Given the description of an element on the screen output the (x, y) to click on. 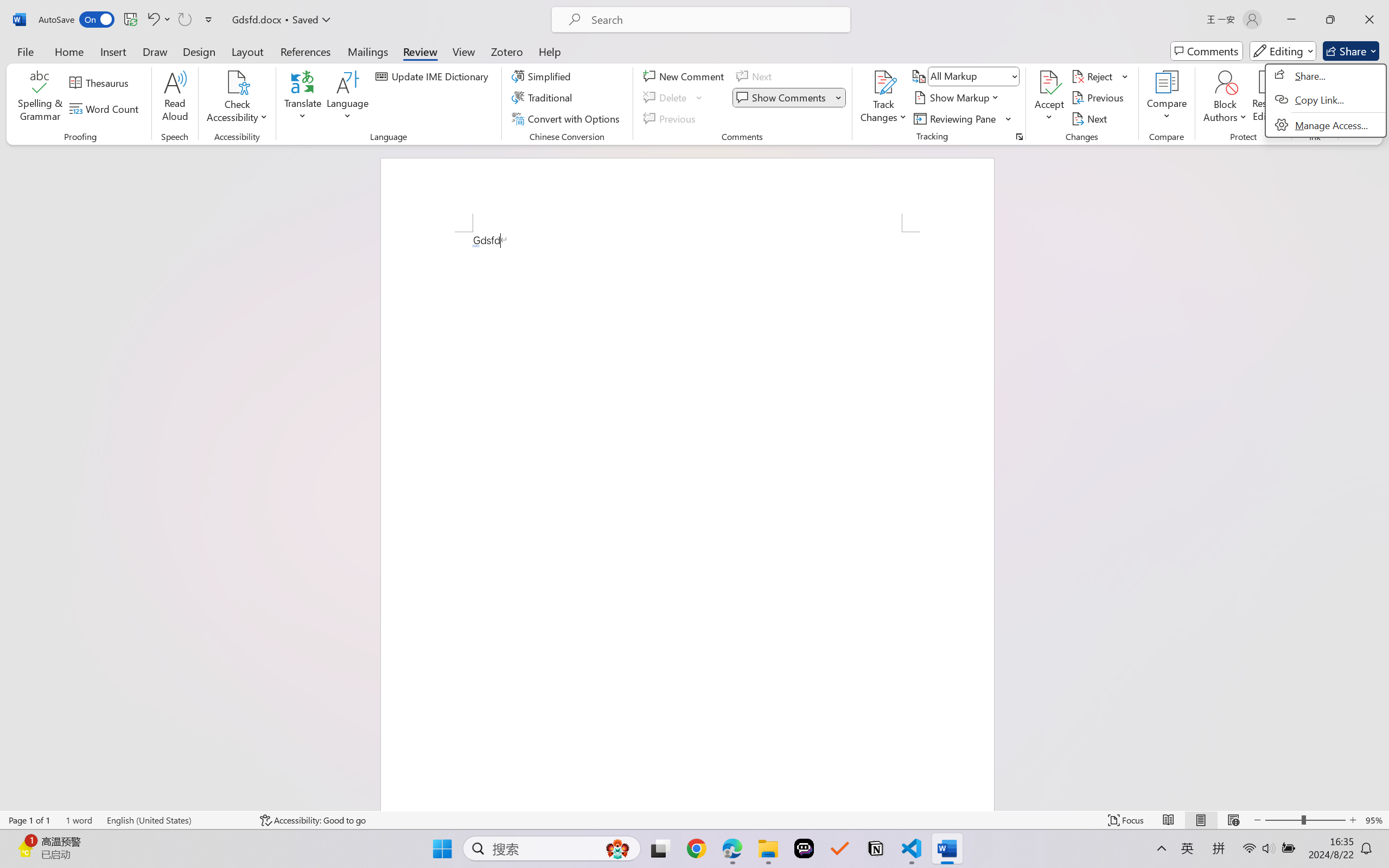
Show Markup (957, 97)
Track Changes (883, 81)
Block Authors (1224, 97)
Undo AutoCorrect (152, 19)
Notion (875, 848)
Accept (1049, 97)
Reviewing Pane (955, 118)
